Given the description of an element on the screen output the (x, y) to click on. 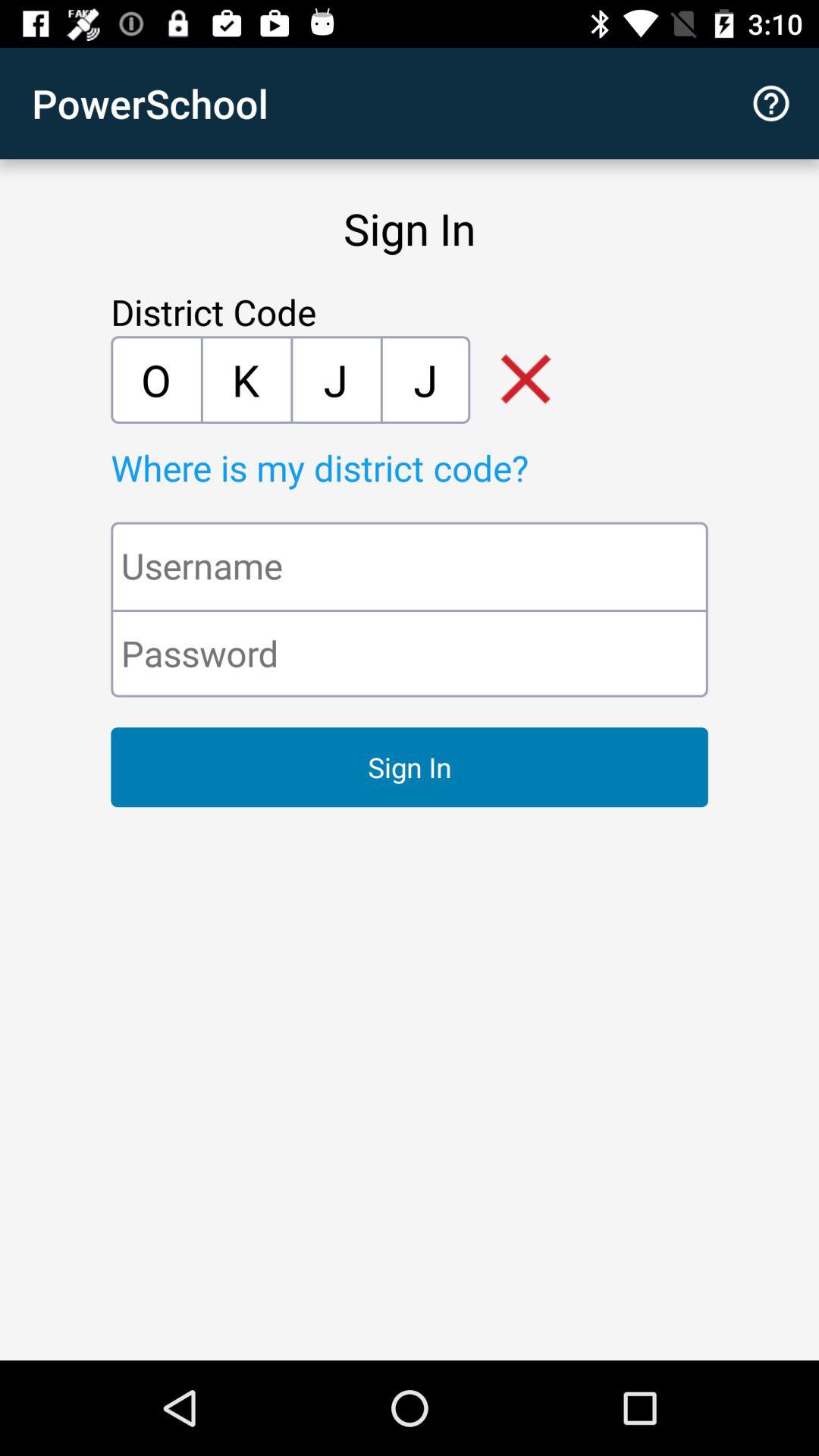
turn on the item next to the k icon (155, 379)
